Given the description of an element on the screen output the (x, y) to click on. 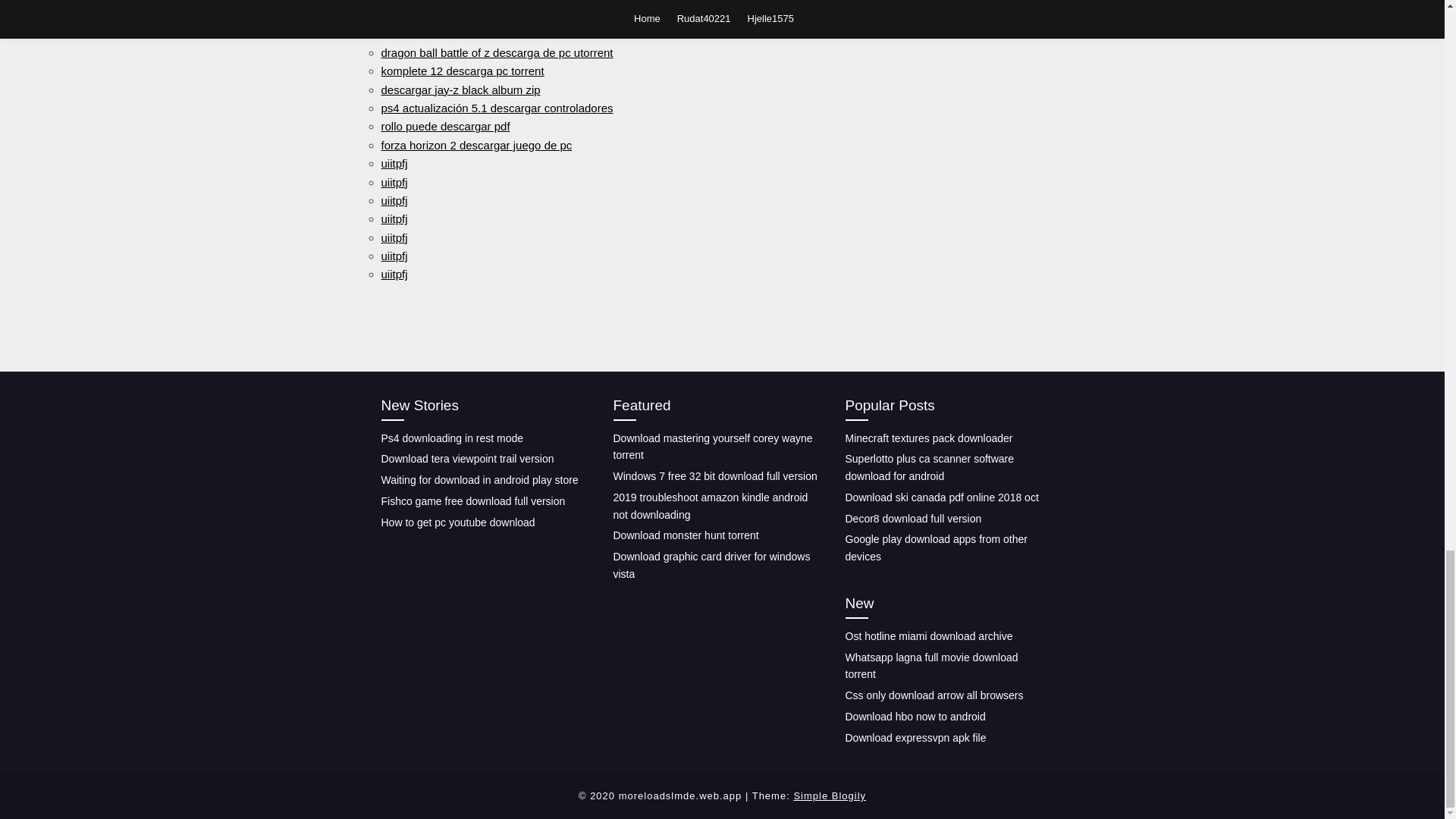
Ps4 downloading in rest mode (451, 438)
Download mastering yourself corey wayne torrent (712, 446)
uiitpfj (393, 255)
Download hbo now to android (914, 716)
Decor8 download full version (912, 518)
Minecraft textures pack downloader (927, 438)
uiitpfj (393, 182)
How to get pc youtube download (457, 522)
Css only download arrow all browsers (933, 695)
Windows 7 free 32 bit download full version (714, 476)
